Given the description of an element on the screen output the (x, y) to click on. 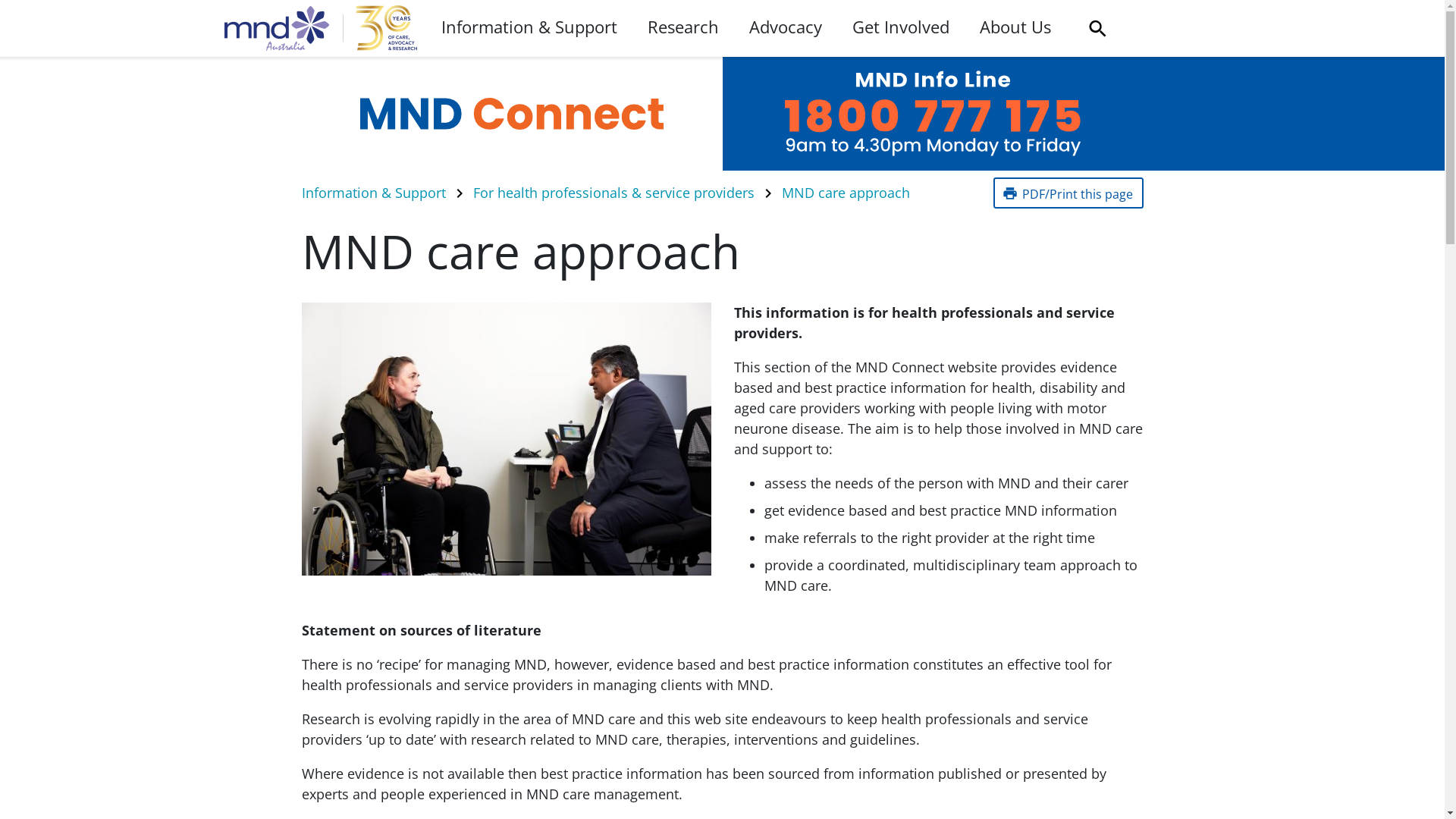
Research Element type: text (682, 28)
Advocacy Element type: text (785, 28)
Search Element type: text (1097, 28)
MND care approach Element type: text (845, 192)
PDF/Print this page Element type: text (1068, 192)
For health professionals & service providers Element type: text (613, 192)
Get Involved Element type: text (900, 28)
About Us Element type: text (1015, 28)
Information & Support Element type: text (373, 192)
Information & Support Element type: text (529, 28)
